Given the description of an element on the screen output the (x, y) to click on. 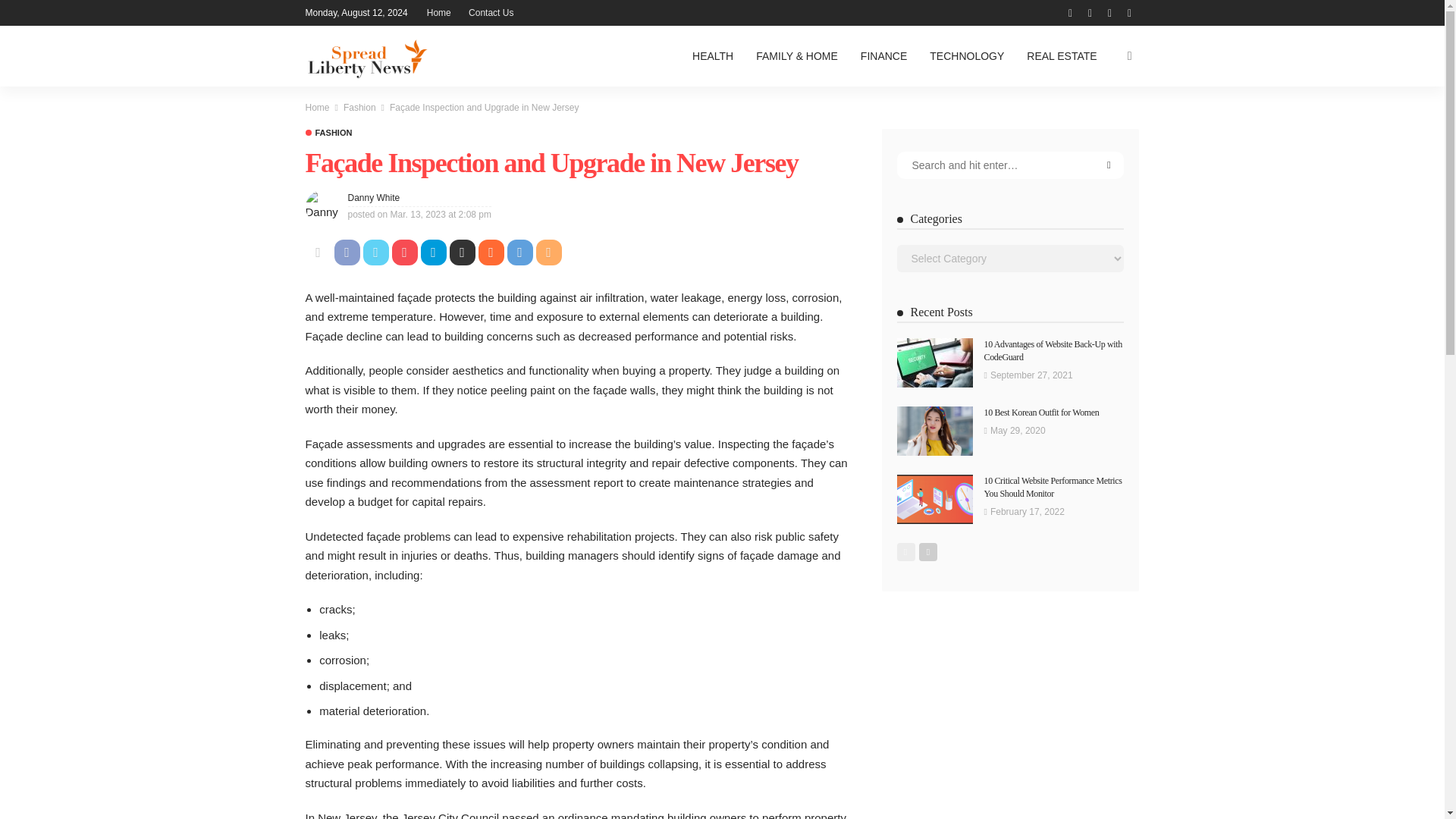
10 Critical Website Performance Metrics You Should Monitor (1053, 486)
10 Advantages of Website Back-Up with CodeGuard (1053, 350)
search for: (1010, 165)
Home (316, 107)
10 Best Korean Outfit for Women (1041, 412)
10 Best Korean Outfit for Women (934, 430)
Fashion (328, 132)
10 Advantages of Website Back-Up with CodeGuard (934, 362)
spread liberty news (366, 55)
10 Critical Website Performance Metrics You Should Monitor (934, 499)
